Given the description of an element on the screen output the (x, y) to click on. 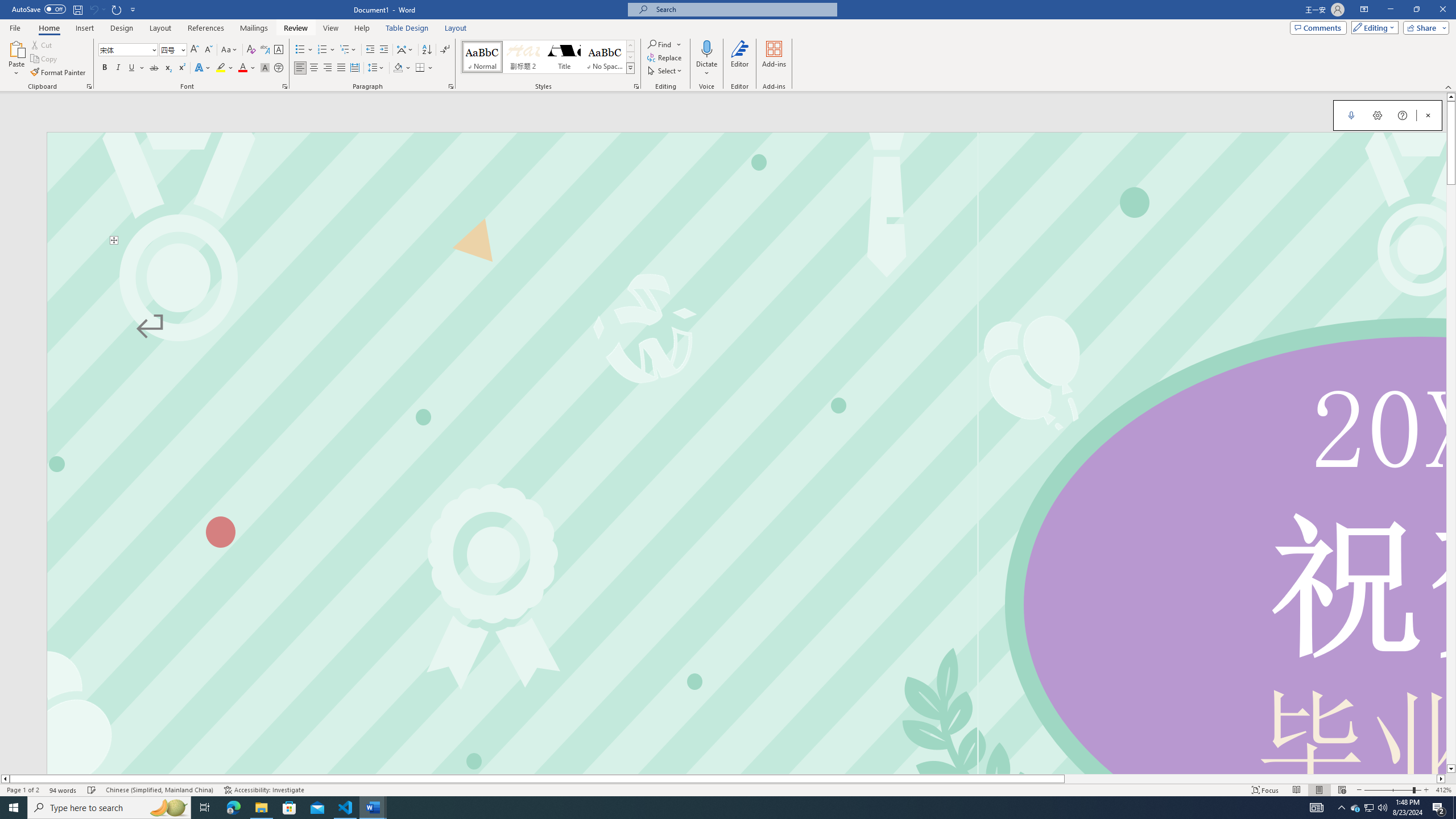
Format Painter (58, 72)
Shading RGB(0, 0, 0) (397, 67)
Clear Formatting (250, 49)
Line and Paragraph Spacing (376, 67)
Accessibility Checker Accessibility: Investigate (263, 790)
